Given the description of an element on the screen output the (x, y) to click on. 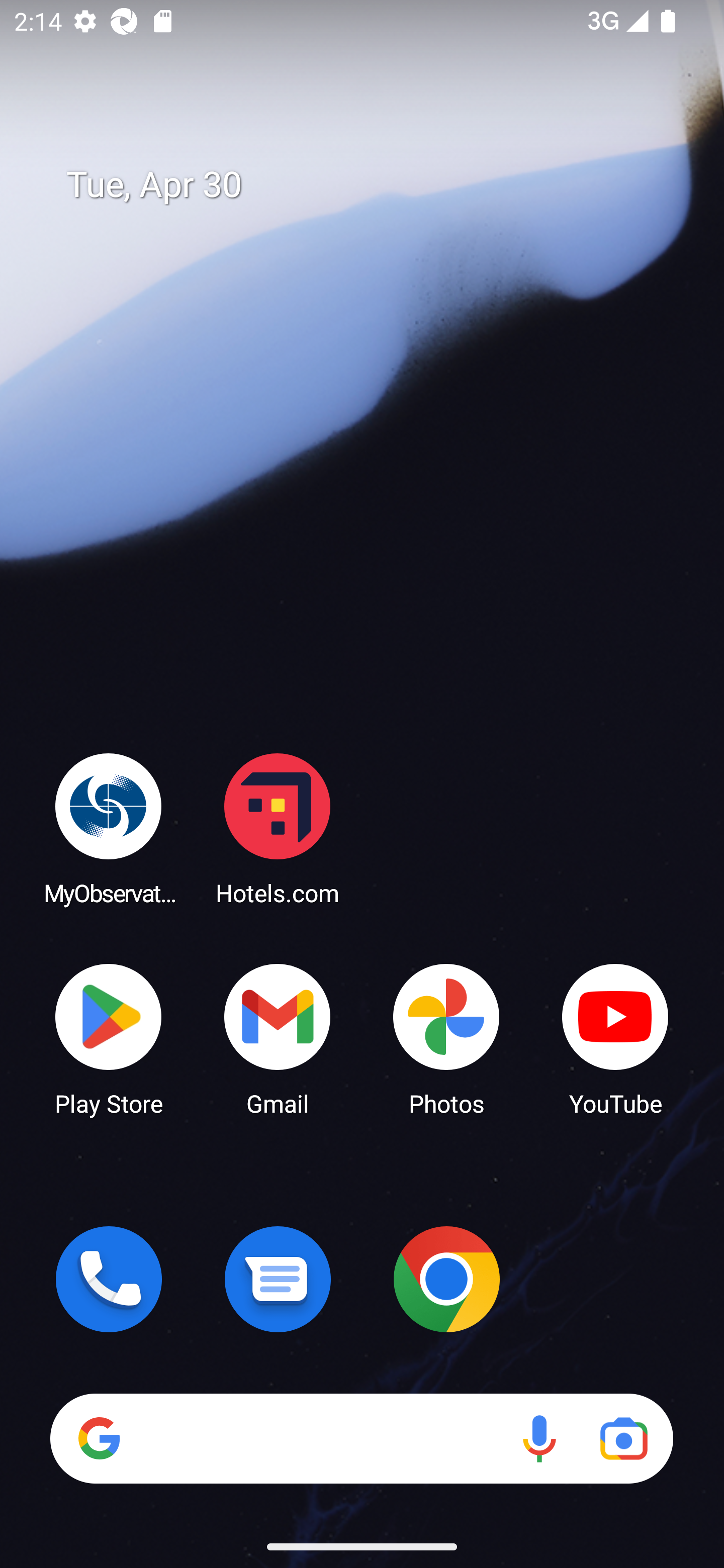
Tue, Apr 30 (375, 184)
MyObservatory (108, 828)
Hotels.com (277, 828)
Play Store (108, 1038)
Gmail (277, 1038)
Photos (445, 1038)
YouTube (615, 1038)
Phone (108, 1279)
Messages (277, 1279)
Chrome (446, 1279)
Search Voice search Google Lens (361, 1438)
Voice search (539, 1438)
Google Lens (623, 1438)
